Given the description of an element on the screen output the (x, y) to click on. 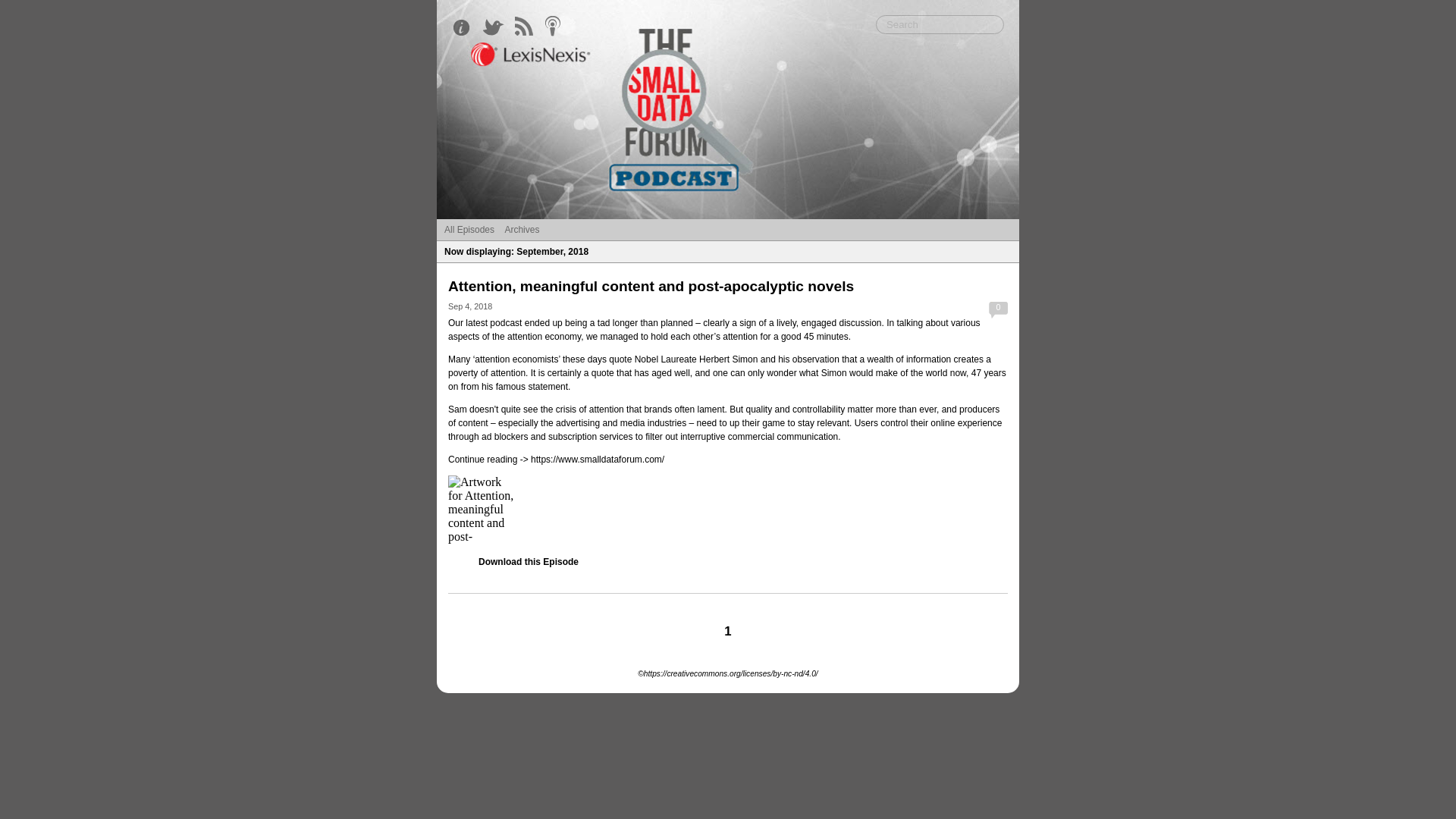
Subscribe in Apple Podcasts (558, 26)
RSS Feed (527, 26)
Libsyn Player (727, 509)
Twitter (496, 26)
